Given the description of an element on the screen output the (x, y) to click on. 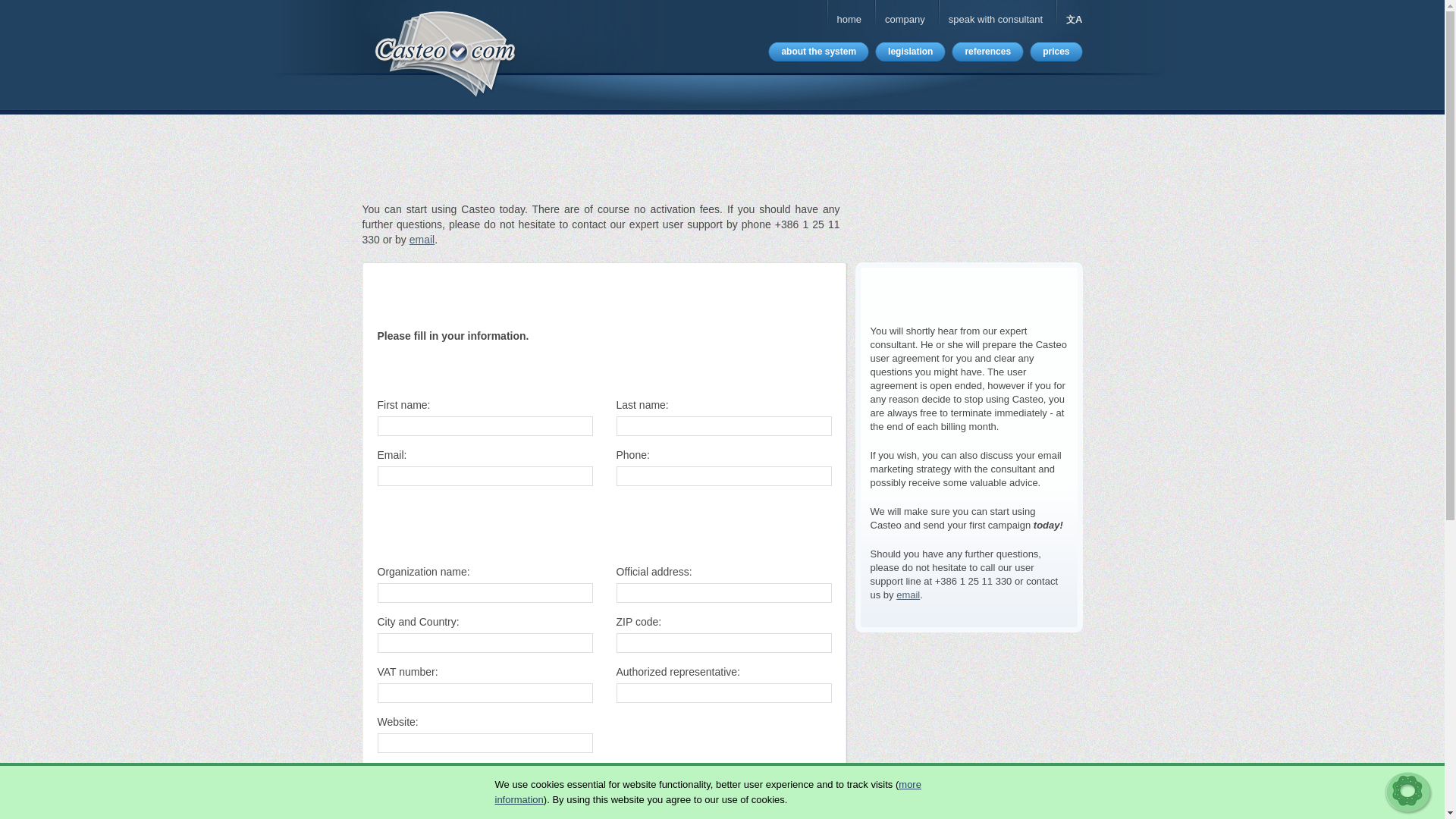
company (904, 19)
home (849, 19)
email (908, 594)
email (421, 239)
more information (707, 791)
speak with consultant (995, 19)
